Given the description of an element on the screen output the (x, y) to click on. 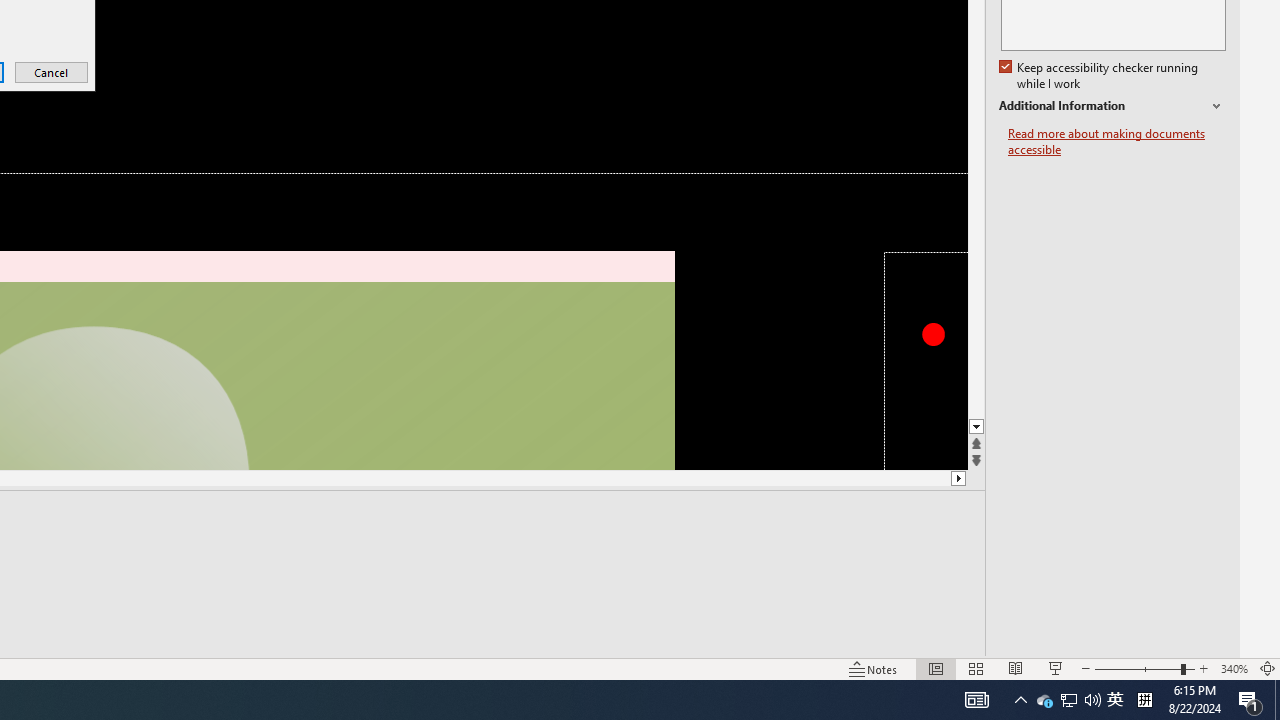
Read more about making documents accessible (1117, 142)
Cancel (51, 72)
